Given the description of an element on the screen output the (x, y) to click on. 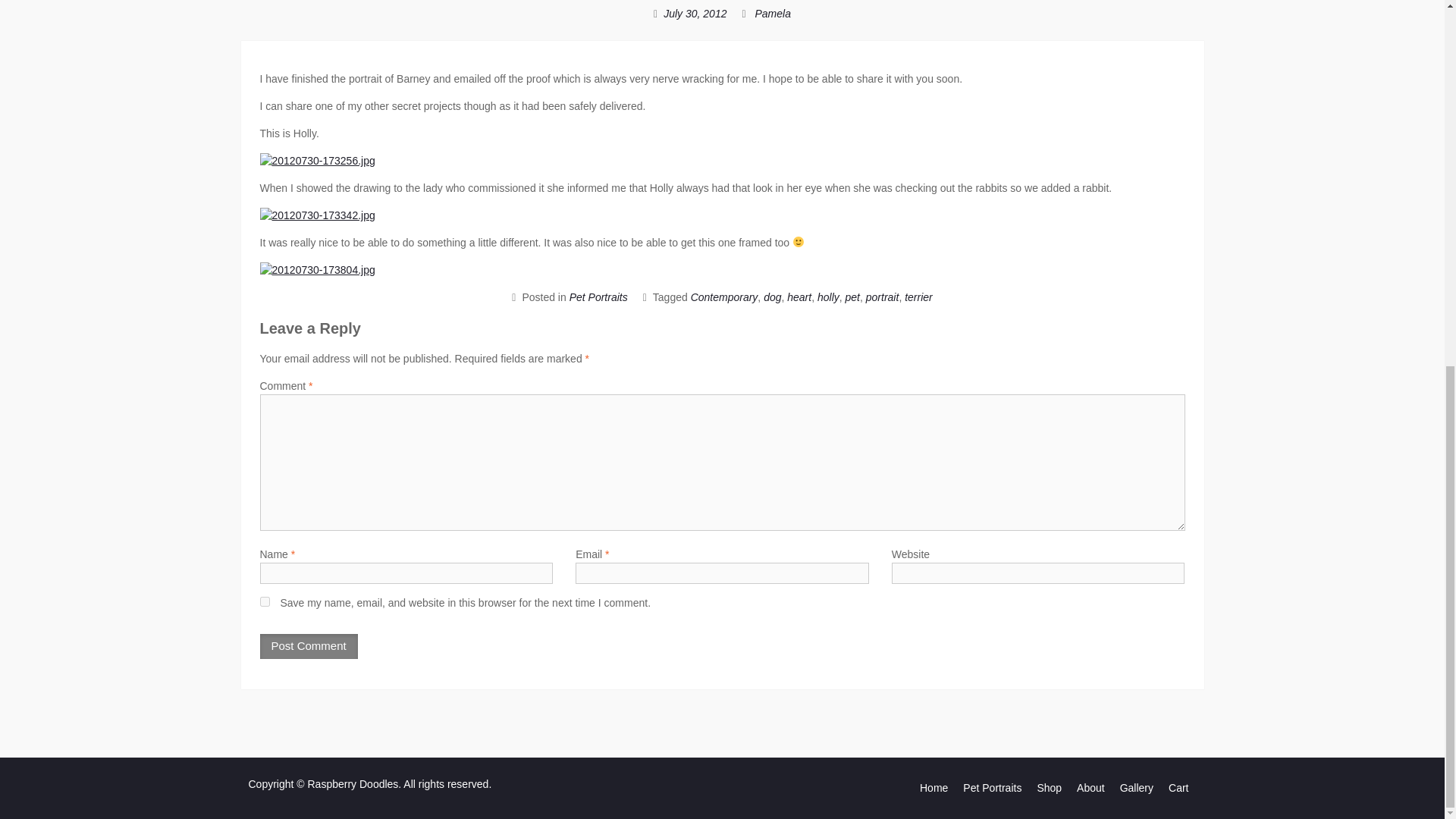
Post Comment (307, 646)
Contemporary (724, 297)
terrier (918, 297)
Post Comment (307, 646)
Pamela (772, 13)
Pet Portraits (992, 788)
About (1090, 788)
pet (852, 297)
Gallery (1136, 788)
Pet Portraits (598, 297)
yes (264, 601)
heart (798, 297)
Shop (1048, 788)
holly (828, 297)
dog (771, 297)
